Given the description of an element on the screen output the (x, y) to click on. 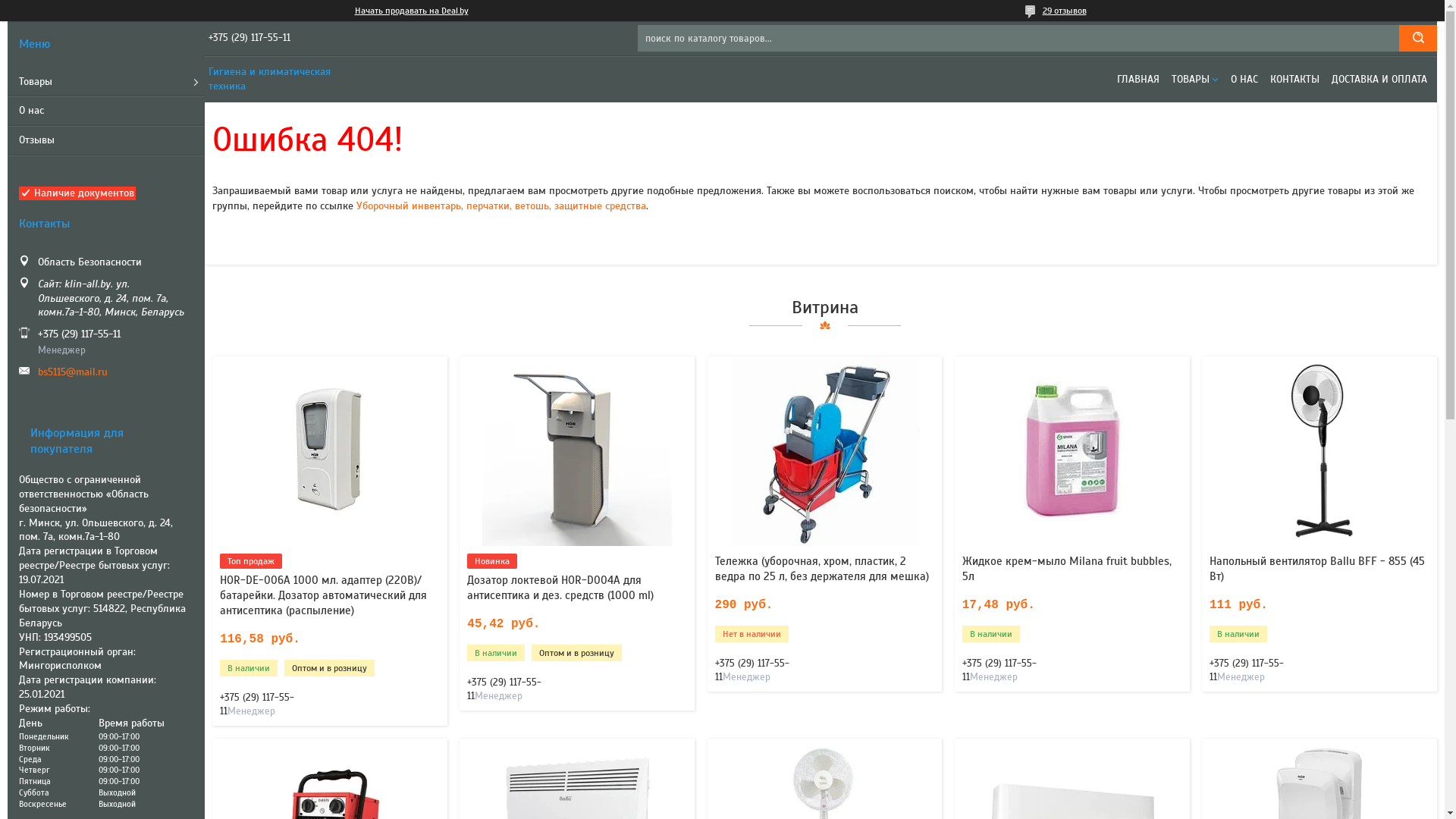
bs5115@mail.ru Element type: text (115, 372)
